Given the description of an element on the screen output the (x, y) to click on. 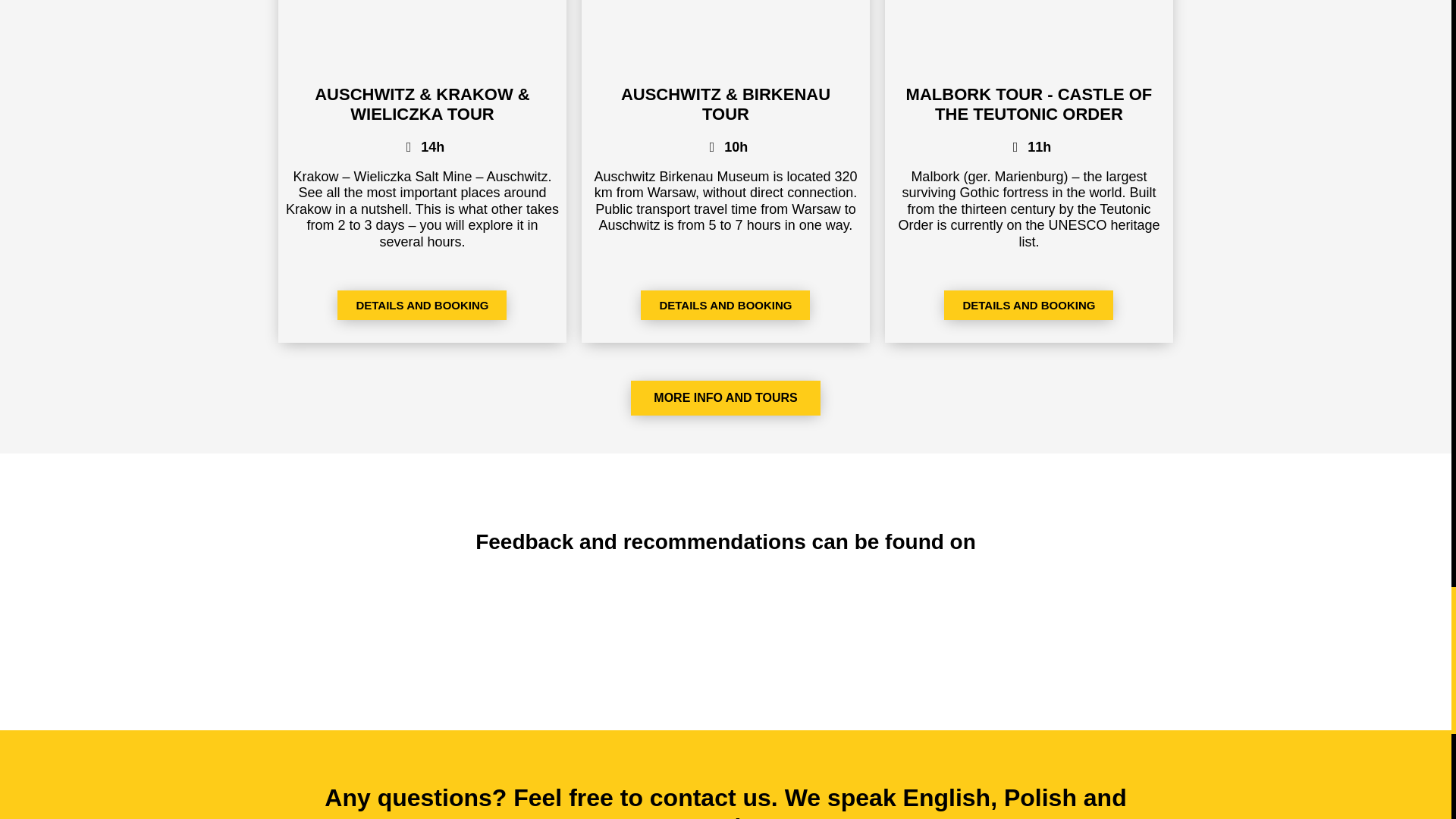
MORE INFO AND TOURS (724, 397)
DETAILS AND BOOKING (724, 305)
DETAILS AND BOOKING (421, 305)
DETAILS AND BOOKING (1028, 305)
